Given the description of an element on the screen output the (x, y) to click on. 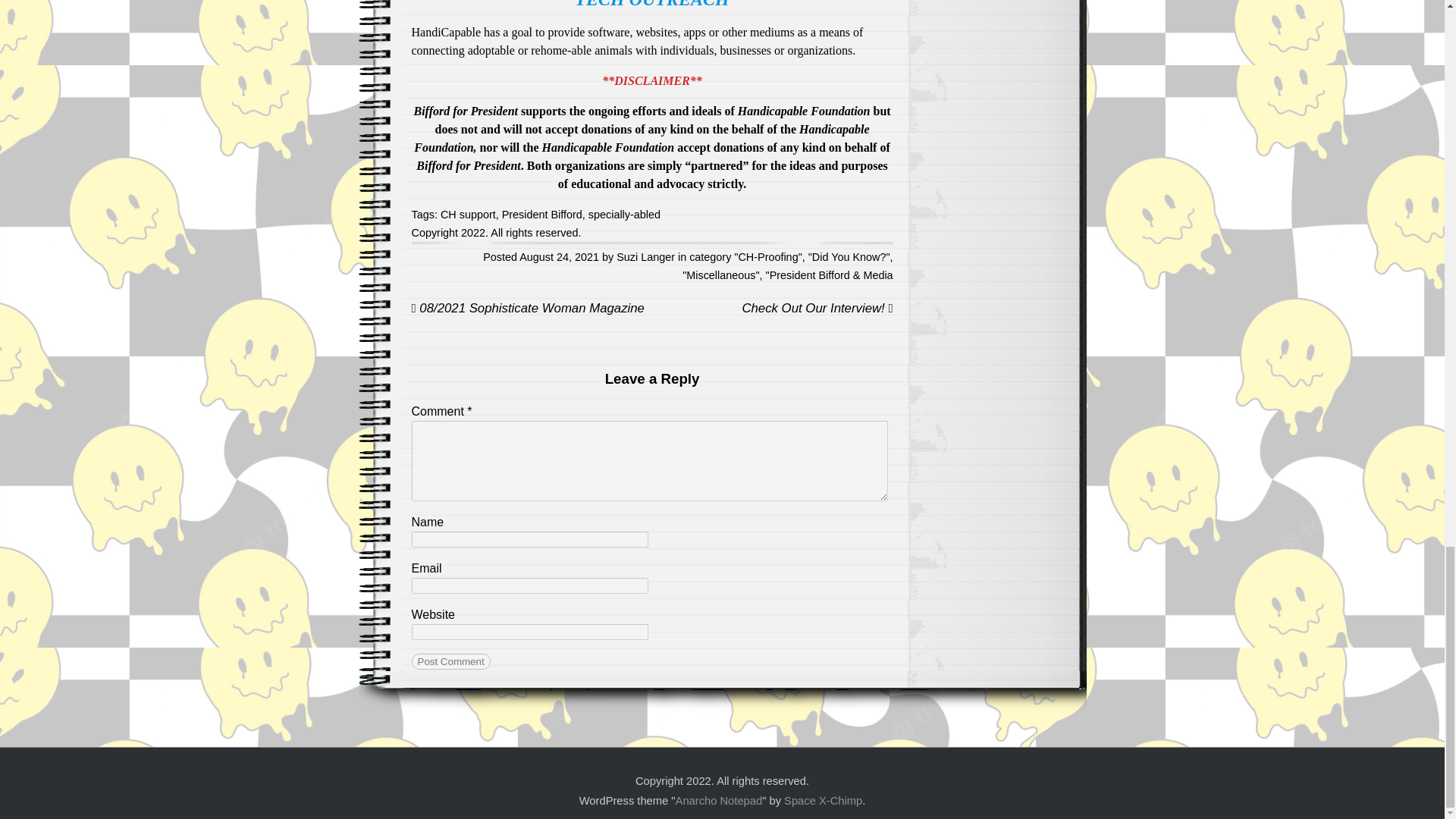
CH support (468, 214)
Check Out Our Interview! (816, 308)
Space X-Chimp (822, 800)
Post Comment (449, 661)
Post Comment (449, 661)
CH-Proofing (767, 256)
Theme page (718, 800)
specially-abled (624, 214)
Did You Know? (849, 256)
President Bifford (542, 214)
Theme author (822, 800)
Miscellaneous (720, 275)
Anarcho Notepad (718, 800)
